Given the description of an element on the screen output the (x, y) to click on. 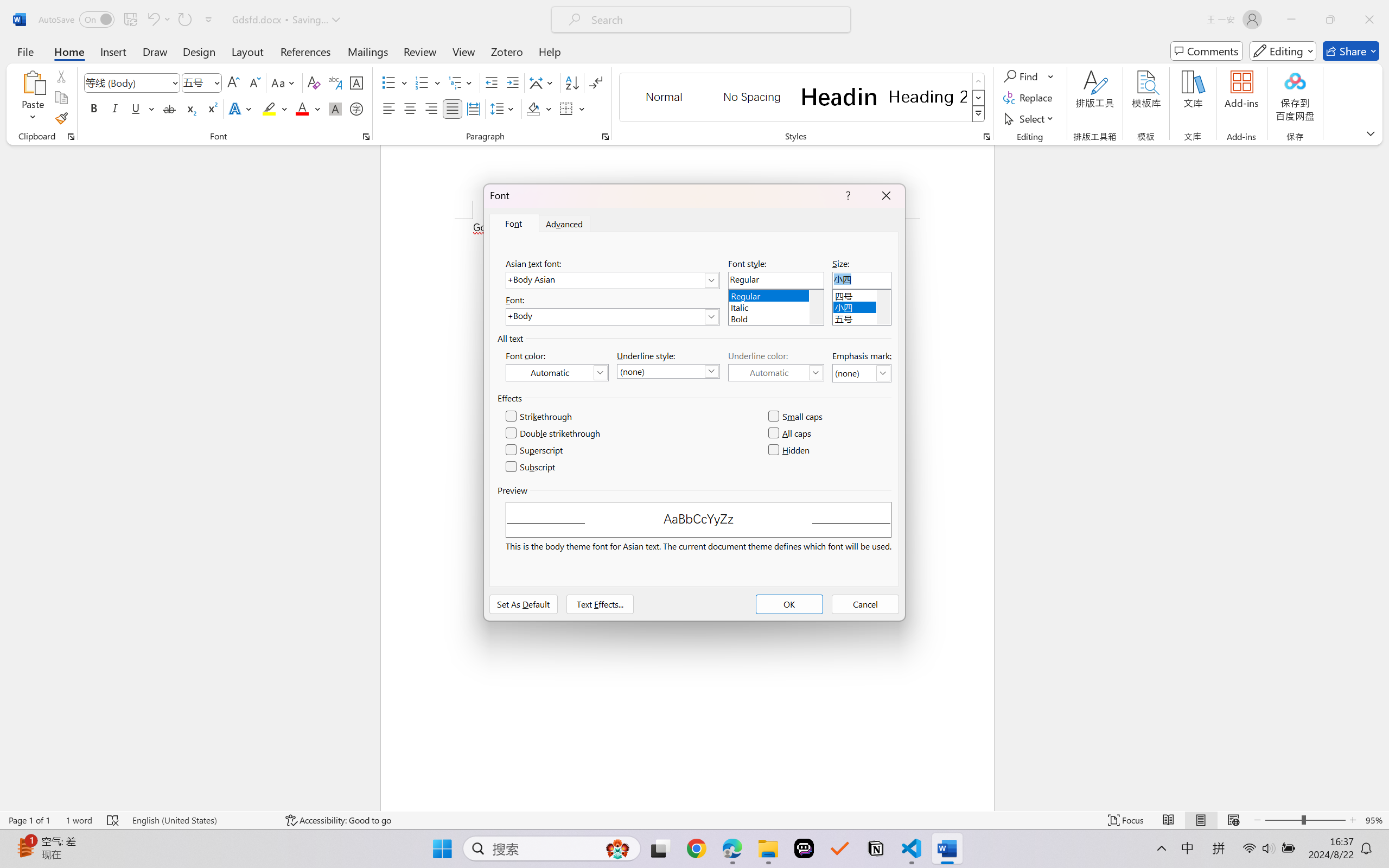
Undo Style (158, 19)
Cut (60, 75)
Grow Font (233, 82)
Spelling and Grammar Check Errors (113, 819)
Clear Formatting (313, 82)
Cancel (865, 603)
Hidden (789, 450)
